Given the description of an element on the screen output the (x, y) to click on. 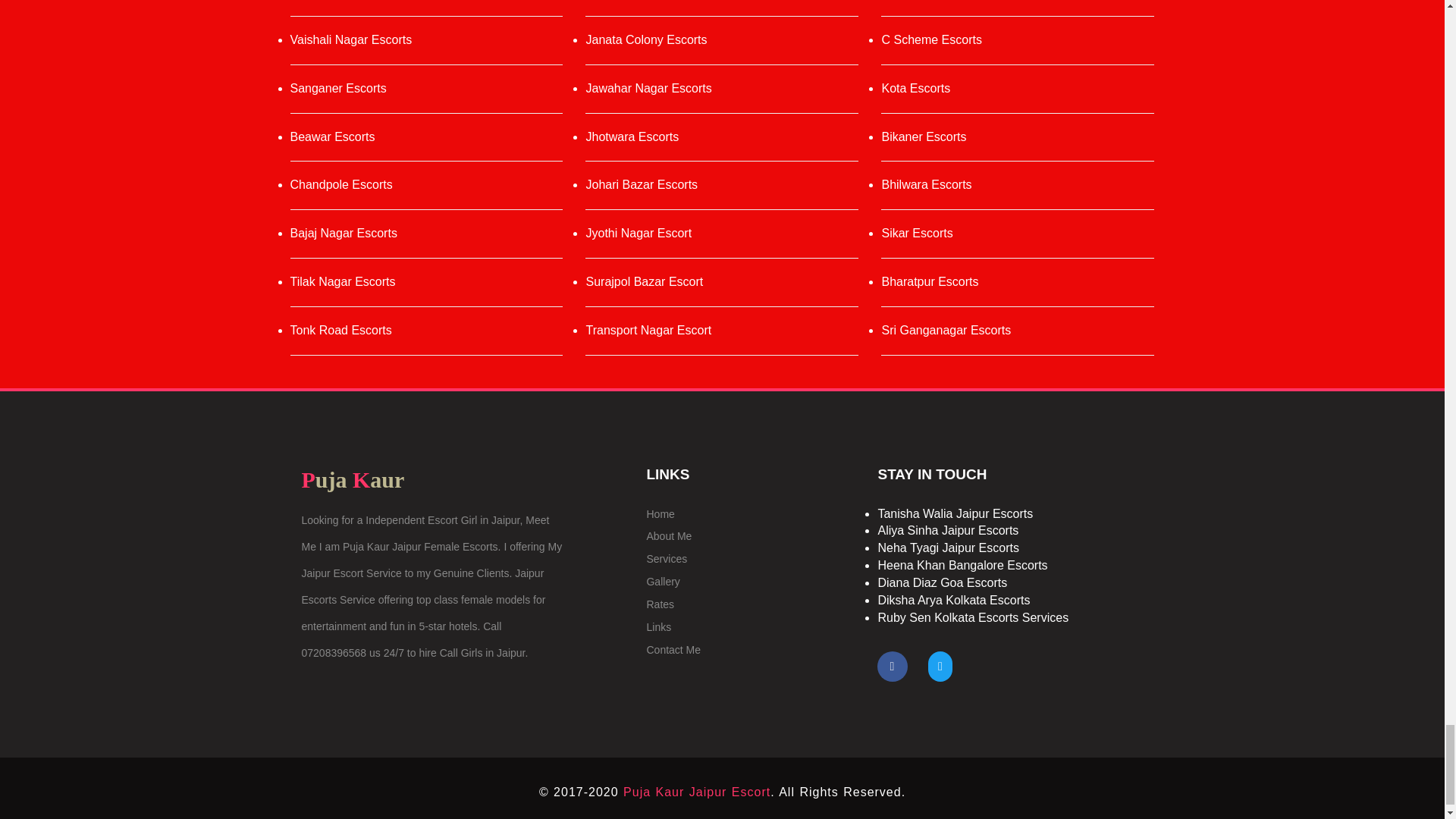
Puja Kaur Independent Jaipur Escort (696, 791)
